Given the description of an element on the screen output the (x, y) to click on. 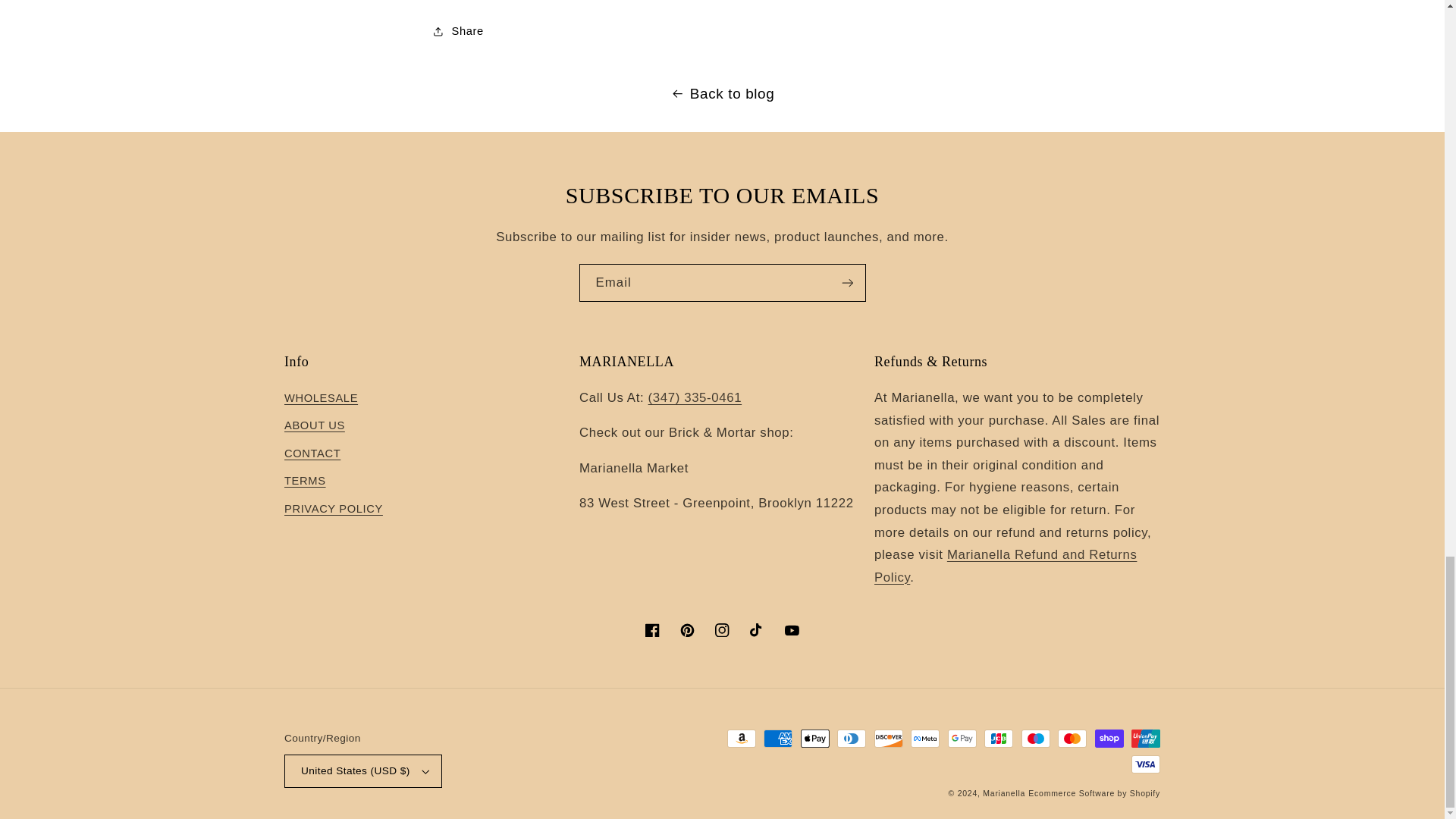
tel:347-335-0461 (694, 397)
